Given the description of an element on the screen output the (x, y) to click on. 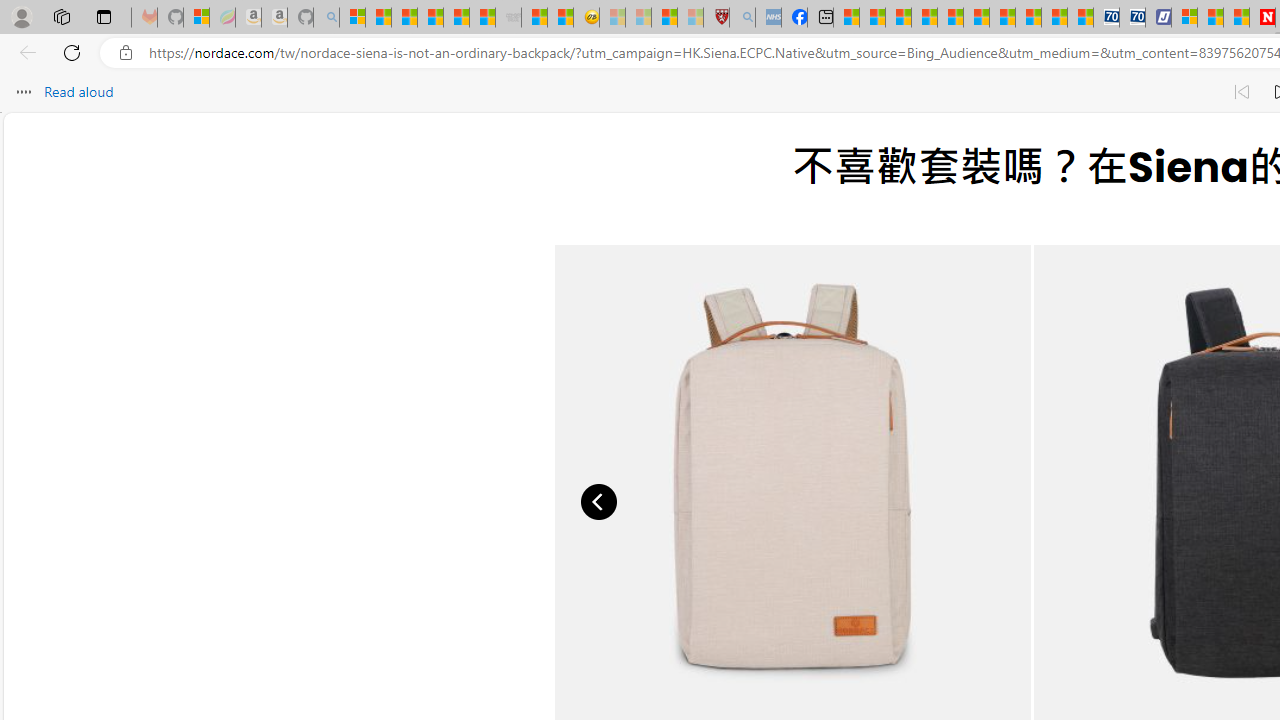
Refresh (72, 52)
NCL Adult Asthma Inhaler Choice Guideline - Sleeping (768, 17)
Robert H. Shmerling, MD - Harvard Health (716, 17)
12 Popular Science Lies that Must be Corrected - Sleeping (690, 17)
MSNBC - MSN (846, 17)
Cheap Car Rentals - Save70.com (1106, 17)
Microsoft-Report a Concern to Bing (196, 17)
New tab (820, 17)
View site information (125, 53)
Recipes - MSN - Sleeping (612, 17)
